Given the description of an element on the screen output the (x, y) to click on. 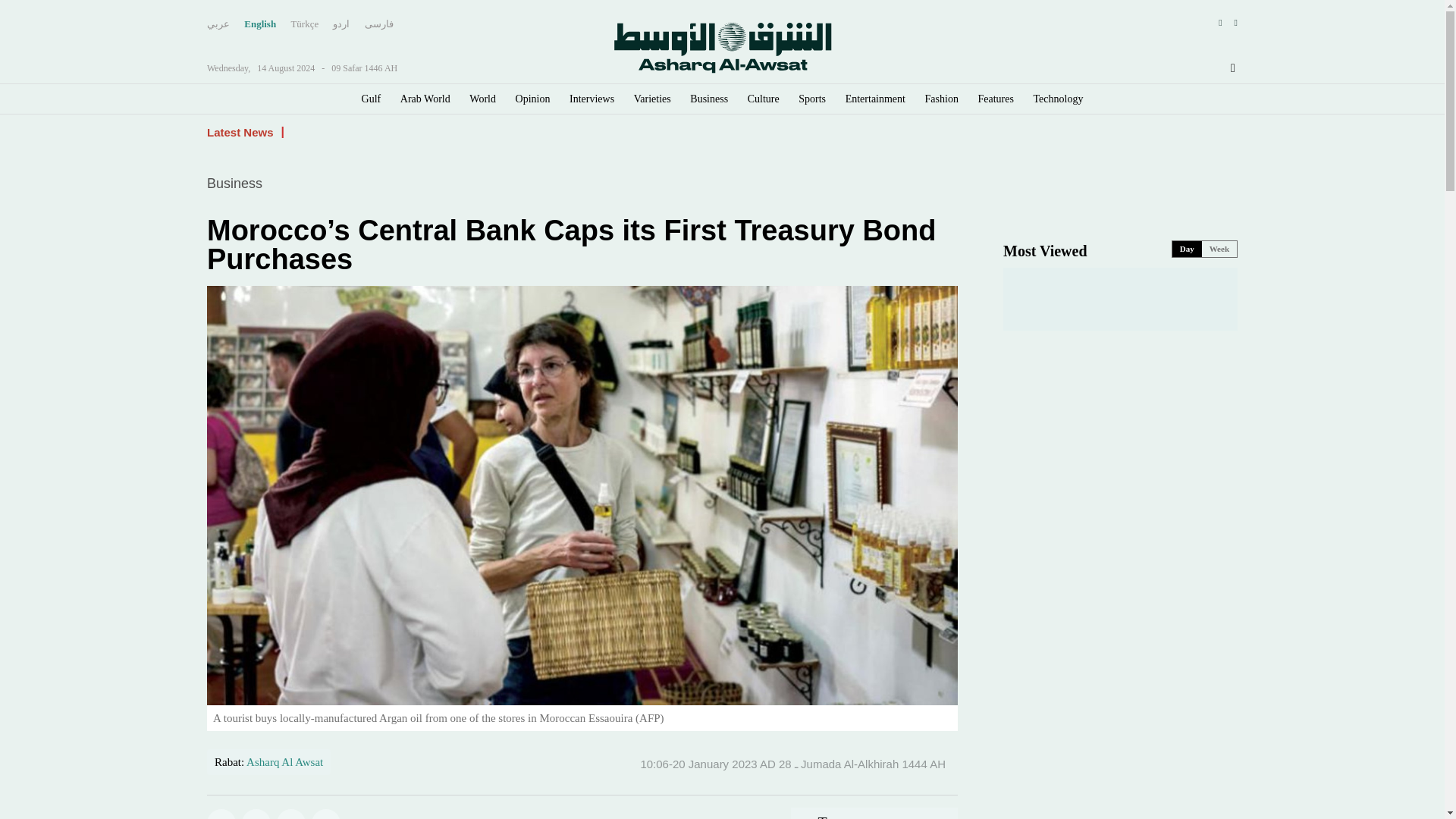
Fashion (941, 99)
Varieties (652, 99)
Technology (1058, 99)
Opinion (532, 99)
Business (709, 99)
Features (995, 99)
Entertainment (875, 99)
Interviews (591, 99)
Arab World (424, 99)
Culture (763, 99)
